Given the description of an element on the screen output the (x, y) to click on. 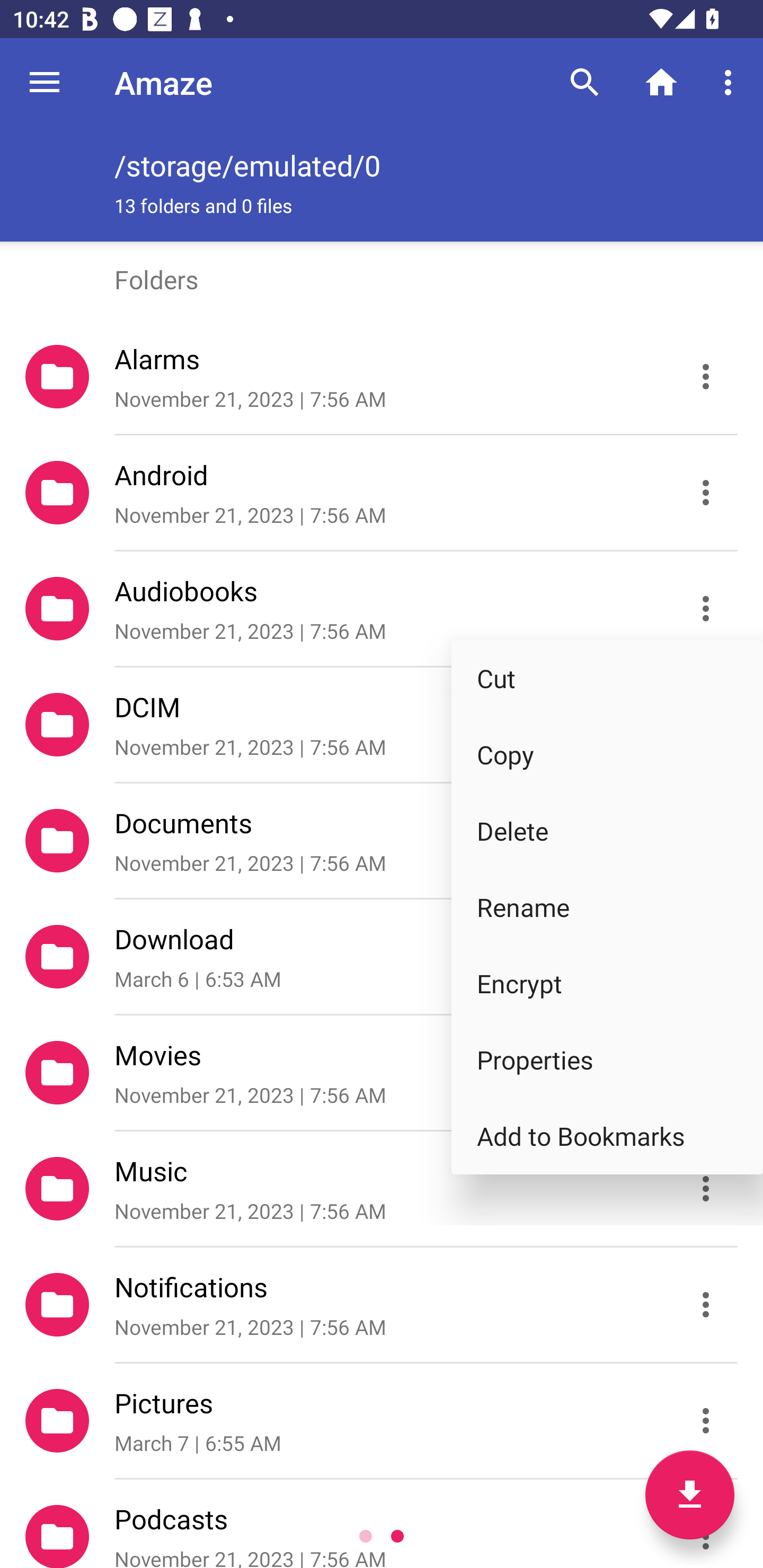
Cut (607, 677)
Copy (607, 754)
Delete (607, 830)
Rename (607, 906)
Encrypt (607, 983)
Properties (607, 1059)
Add to Bookmarks (607, 1135)
